Given the description of an element on the screen output the (x, y) to click on. 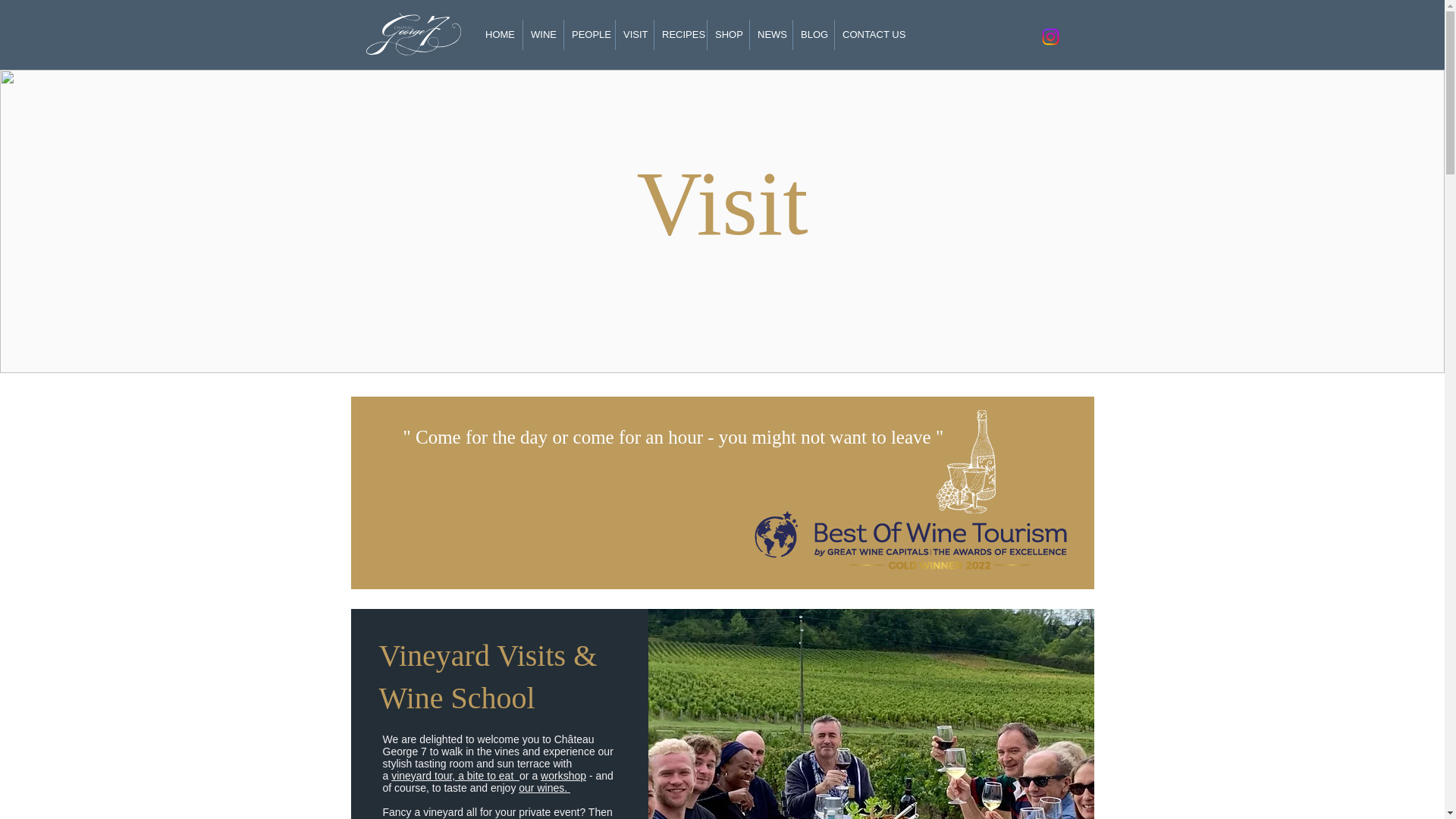
PEOPLE (588, 34)
HOME (499, 34)
